Given the description of an element on the screen output the (x, y) to click on. 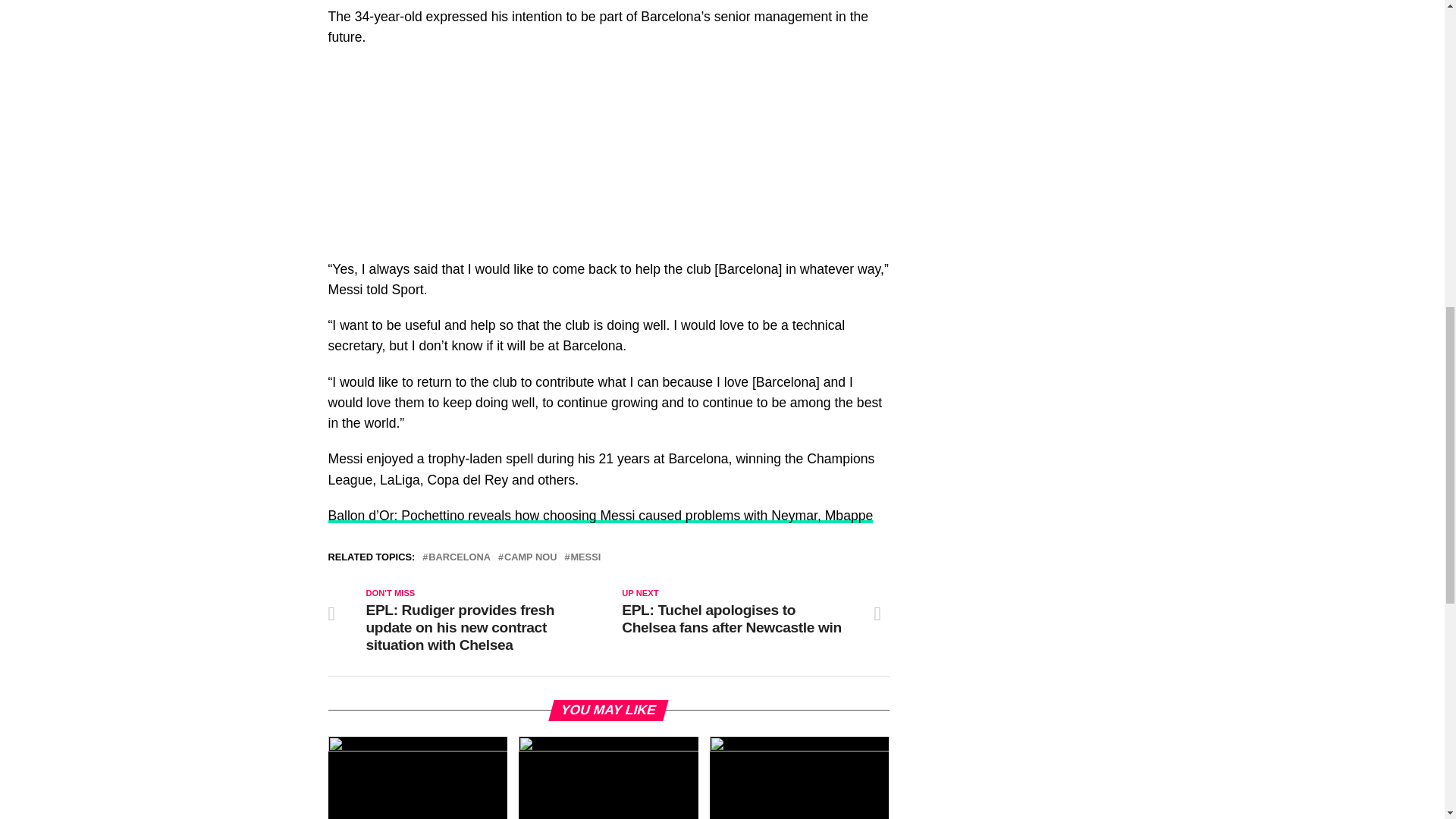
MESSI (584, 557)
CAMP NOU (529, 557)
BARCELONA (459, 557)
